Given the description of an element on the screen output the (x, y) to click on. 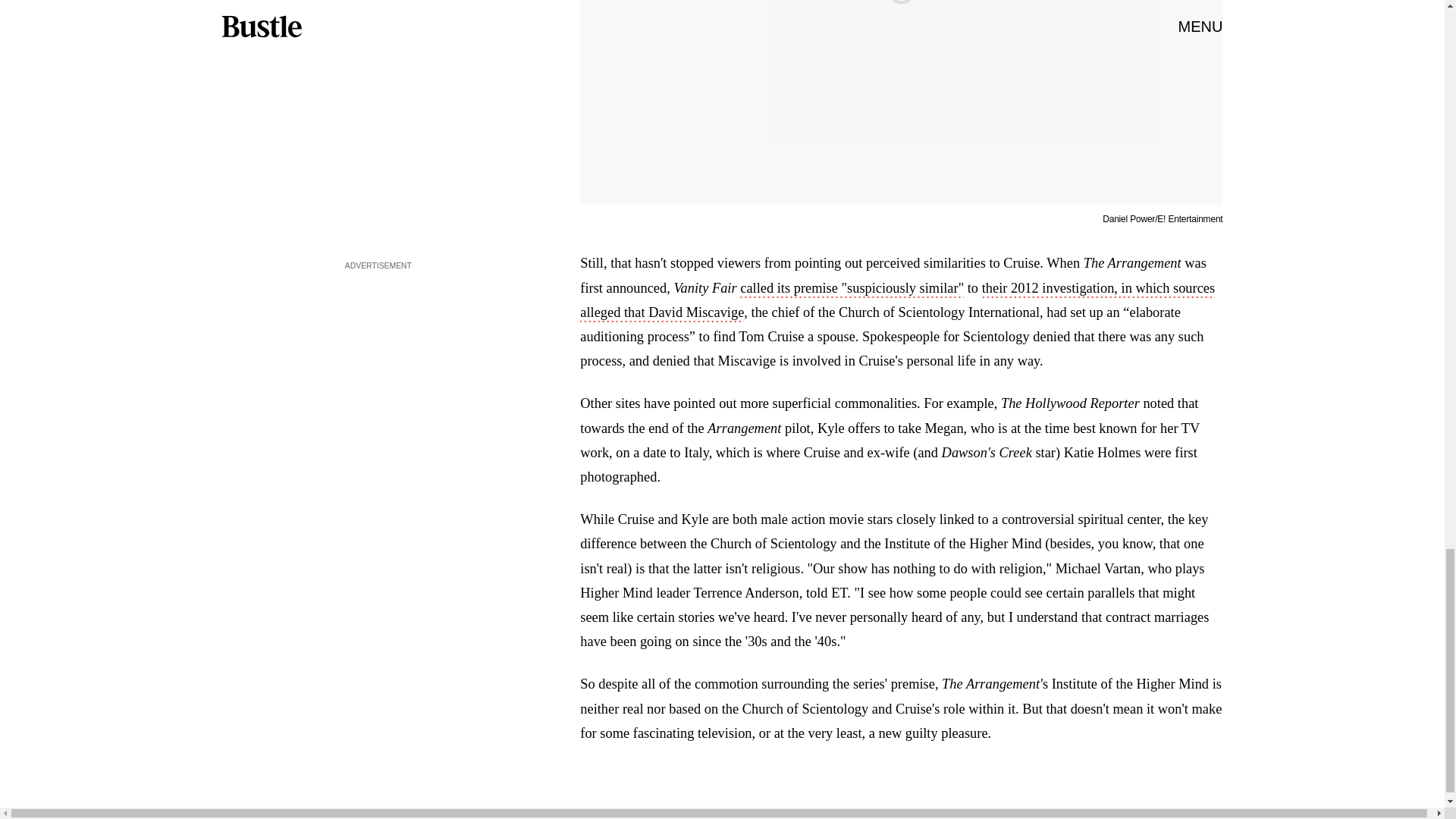
called its premise "suspiciously similar" (851, 289)
